Given the description of an element on the screen output the (x, y) to click on. 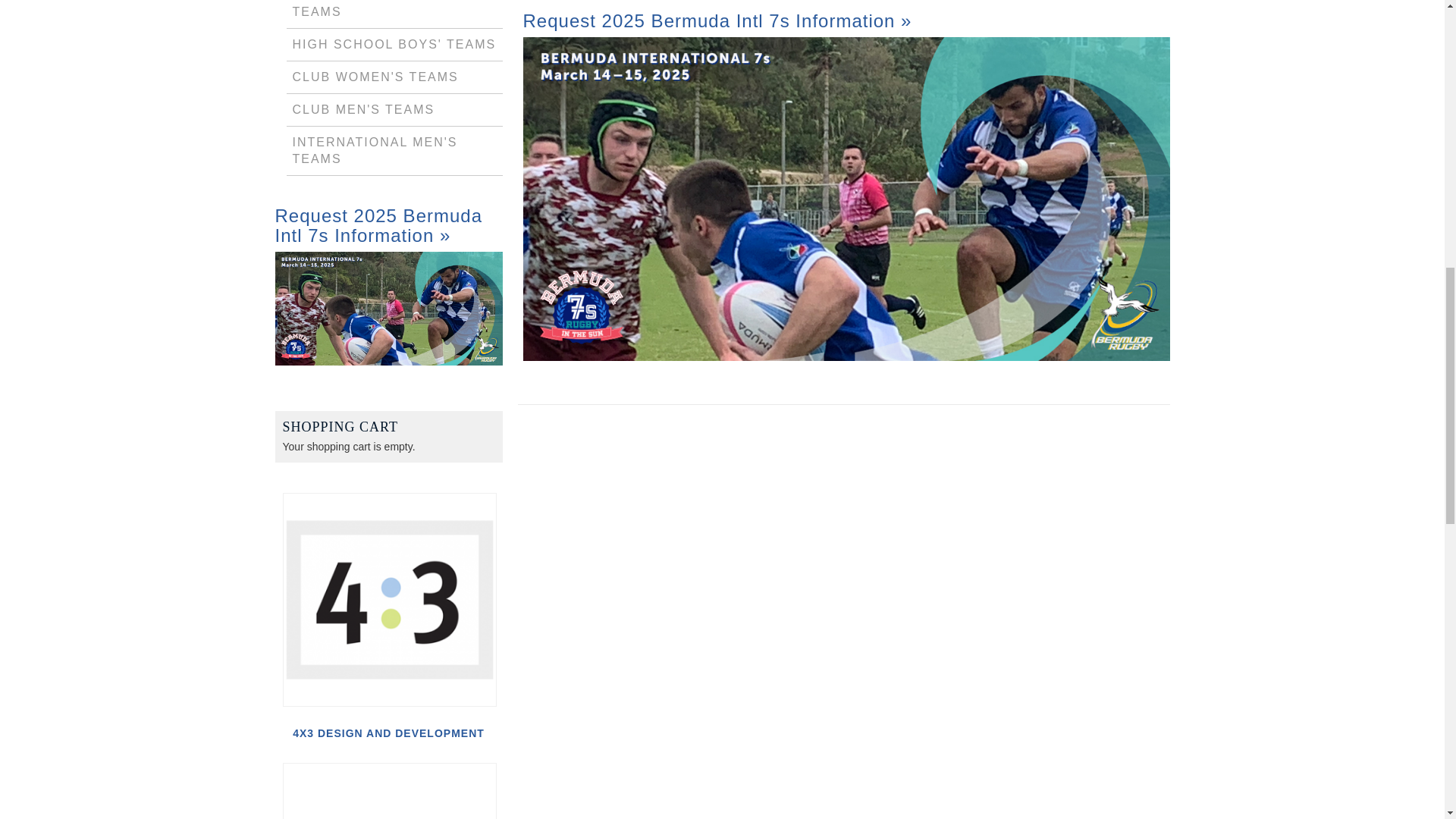
HIGH SCHOOL BOYS' TEAMS (394, 43)
HIGH SCHOOL GIRL'S TEAMS (369, 9)
CLUB WOMEN'S TEAMS (375, 76)
OEM Industrial supports rugby (389, 790)
INTERNATIONAL MEN'S TEAMS (375, 150)
4x3 integrates the latest in responsive design (389, 599)
4X3 DESIGN AND DEVELOPMENT (388, 733)
CLUB MEN'S TEAMS (363, 109)
